Given the description of an element on the screen output the (x, y) to click on. 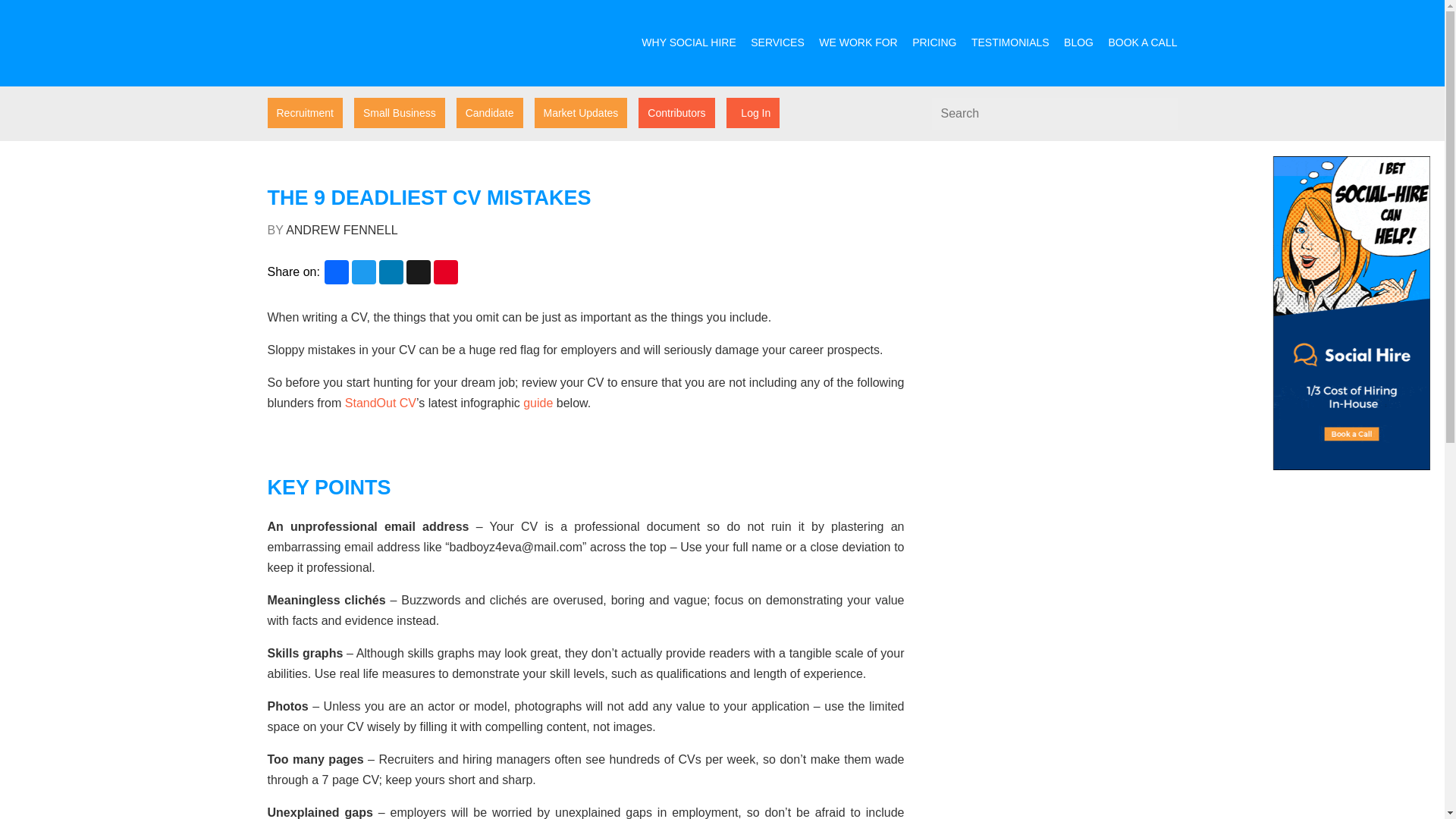
BLOG (1078, 42)
SERVICES (778, 42)
TESTIMONIALS (1010, 42)
WHY SOCIAL HIRE (688, 42)
WE WORK FOR (857, 42)
BOOK A CALL (1142, 42)
PRICING (934, 42)
